Given the description of an element on the screen output the (x, y) to click on. 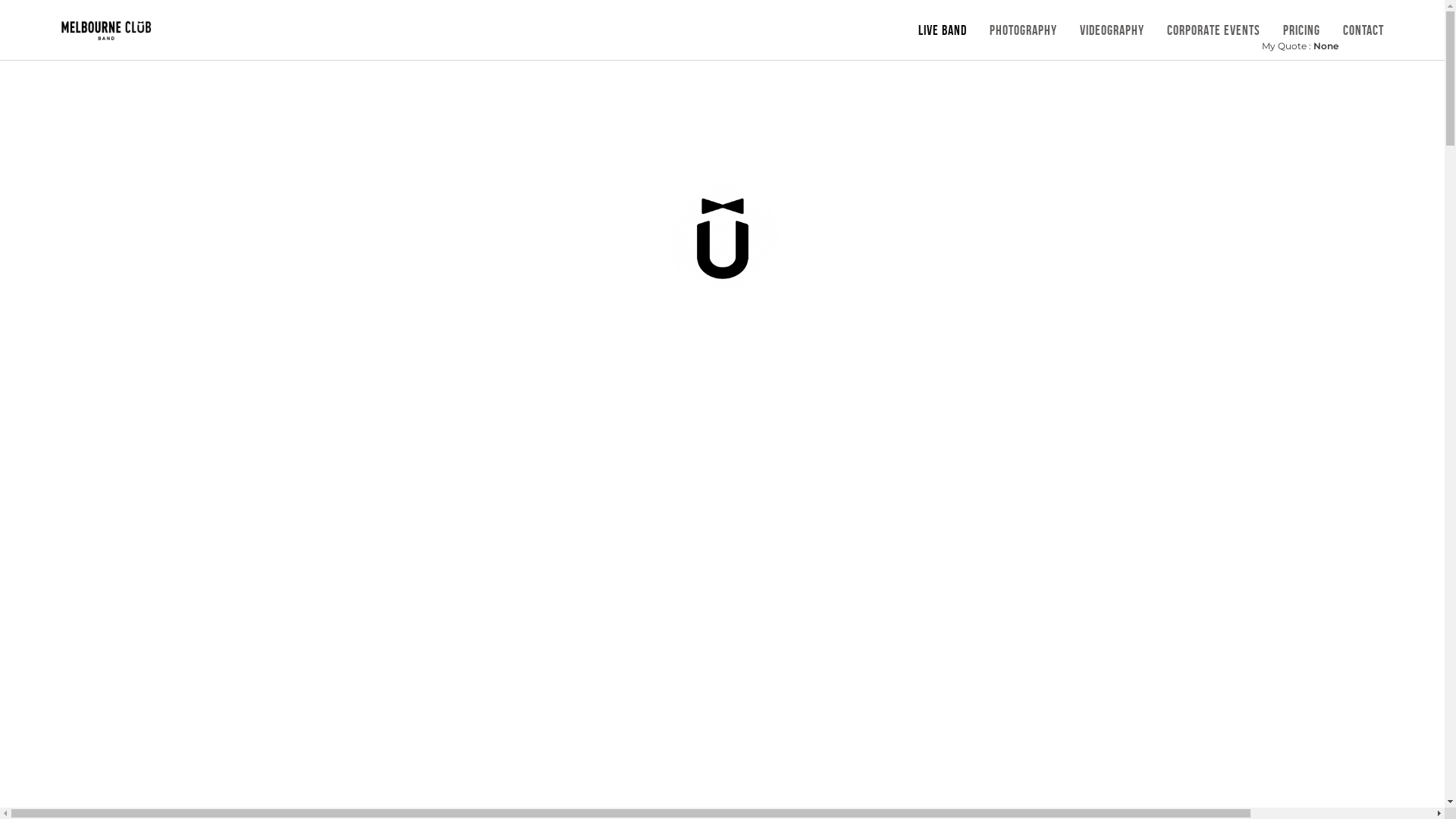
PHOTOGRAPHY Element type: text (1023, 24)
TEXT US Element type: text (763, 141)
VIDEOGRAPHY Element type: text (1111, 24)
CONTACT Element type: text (1363, 24)
PRICING Element type: text (1301, 24)
Who We Are Element type: text (665, 525)
CORPORATE EVENTS Element type: text (1213, 24)
Corporate Events Element type: text (773, 525)
CALL US Element type: text (680, 141)
TEXT US Element type: text (763, 131)
Next Live Showcase Element type: text (665, 493)
LIVE BAND Element type: text (942, 24)
CALL US Element type: text (680, 131)
My Quote : None Element type: text (1299, 45)
Melbourne Club Band Element type: hover (105, 30)
Song List Element type: text (773, 493)
